Given the description of an element on the screen output the (x, y) to click on. 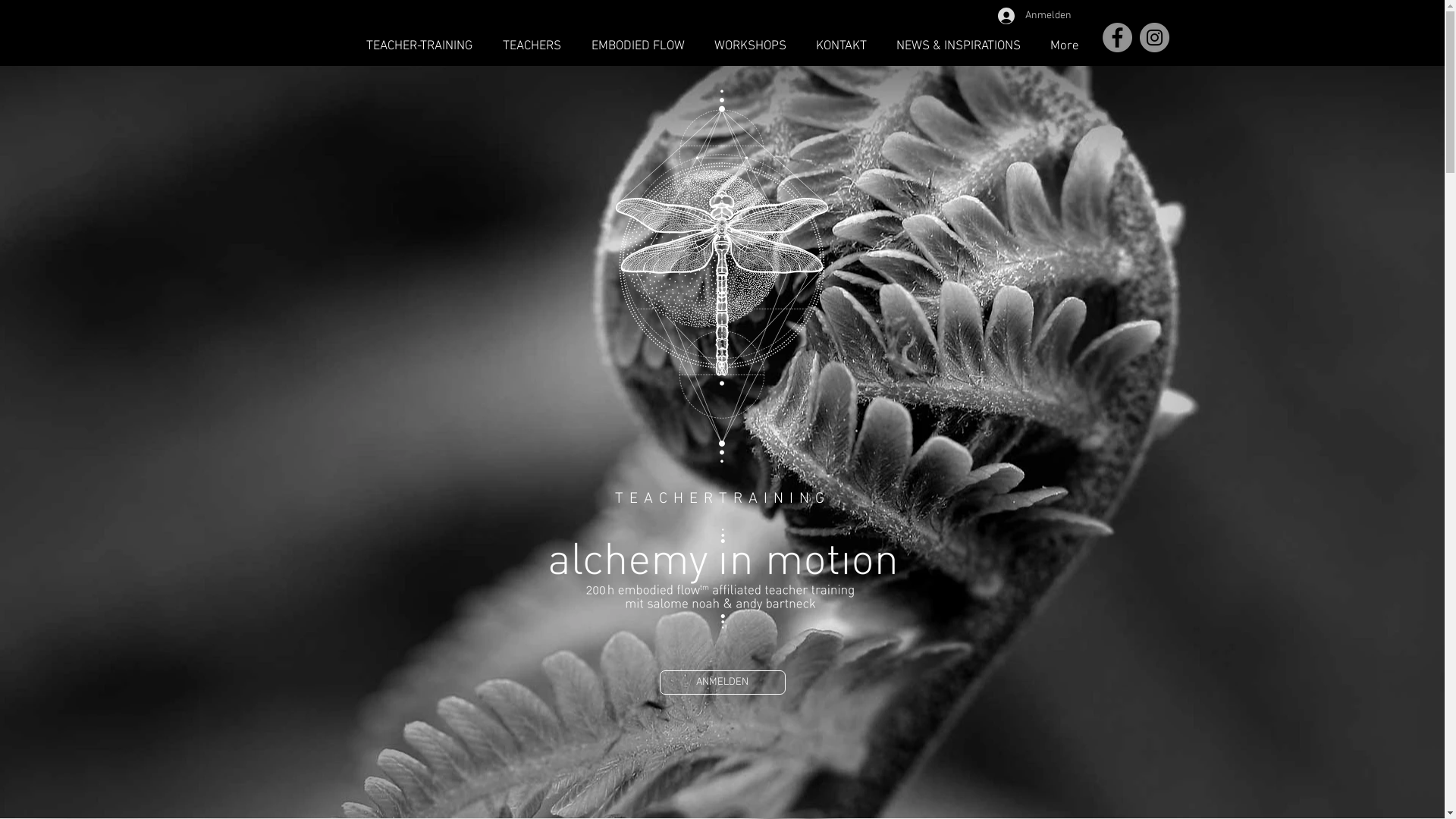
EMBODIED FLOW Element type: text (637, 46)
TEACHER-TRAINING Element type: text (418, 46)
ANMELDEN Element type: text (722, 682)
KONTAKT Element type: text (840, 46)
TEACHERS Element type: text (530, 46)
NEWS & INSPIRATIONS Element type: text (958, 46)
WORKSHOPS Element type: text (749, 46)
Anmelden Element type: text (1031, 15)
